Given the description of an element on the screen output the (x, y) to click on. 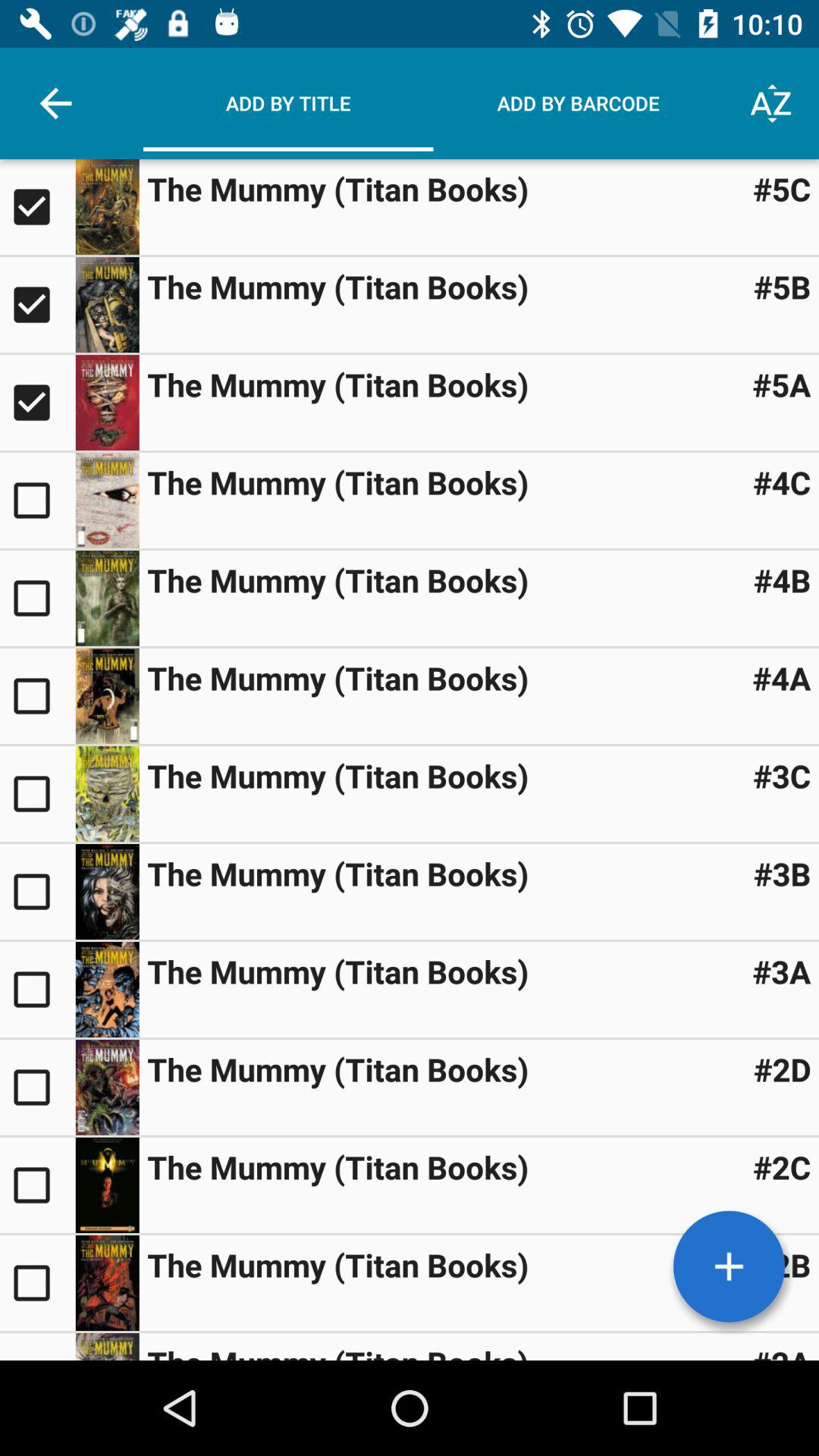
look at the cover (107, 891)
